Given the description of an element on the screen output the (x, y) to click on. 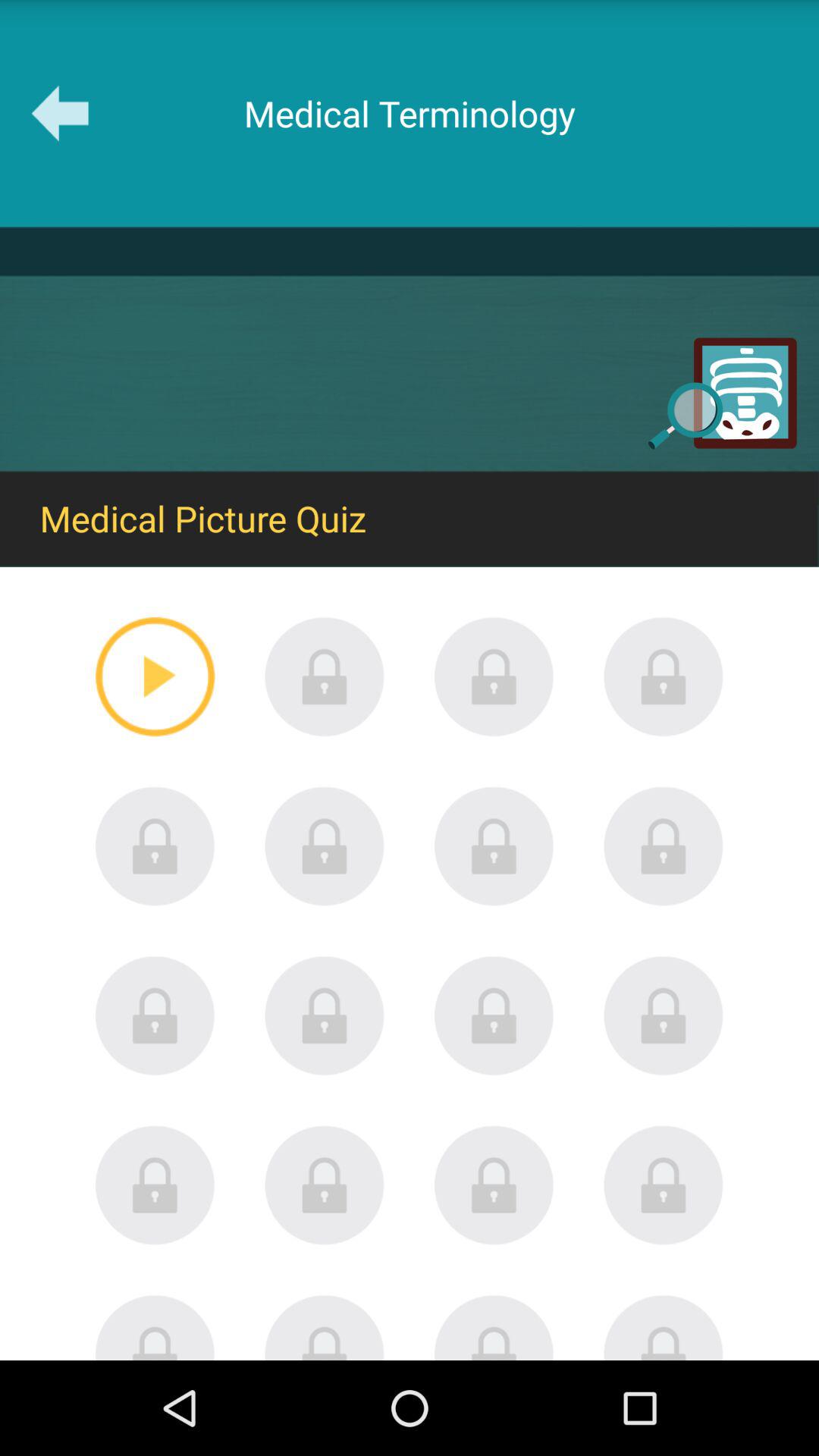
not accessible (324, 676)
